Given the description of an element on the screen output the (x, y) to click on. 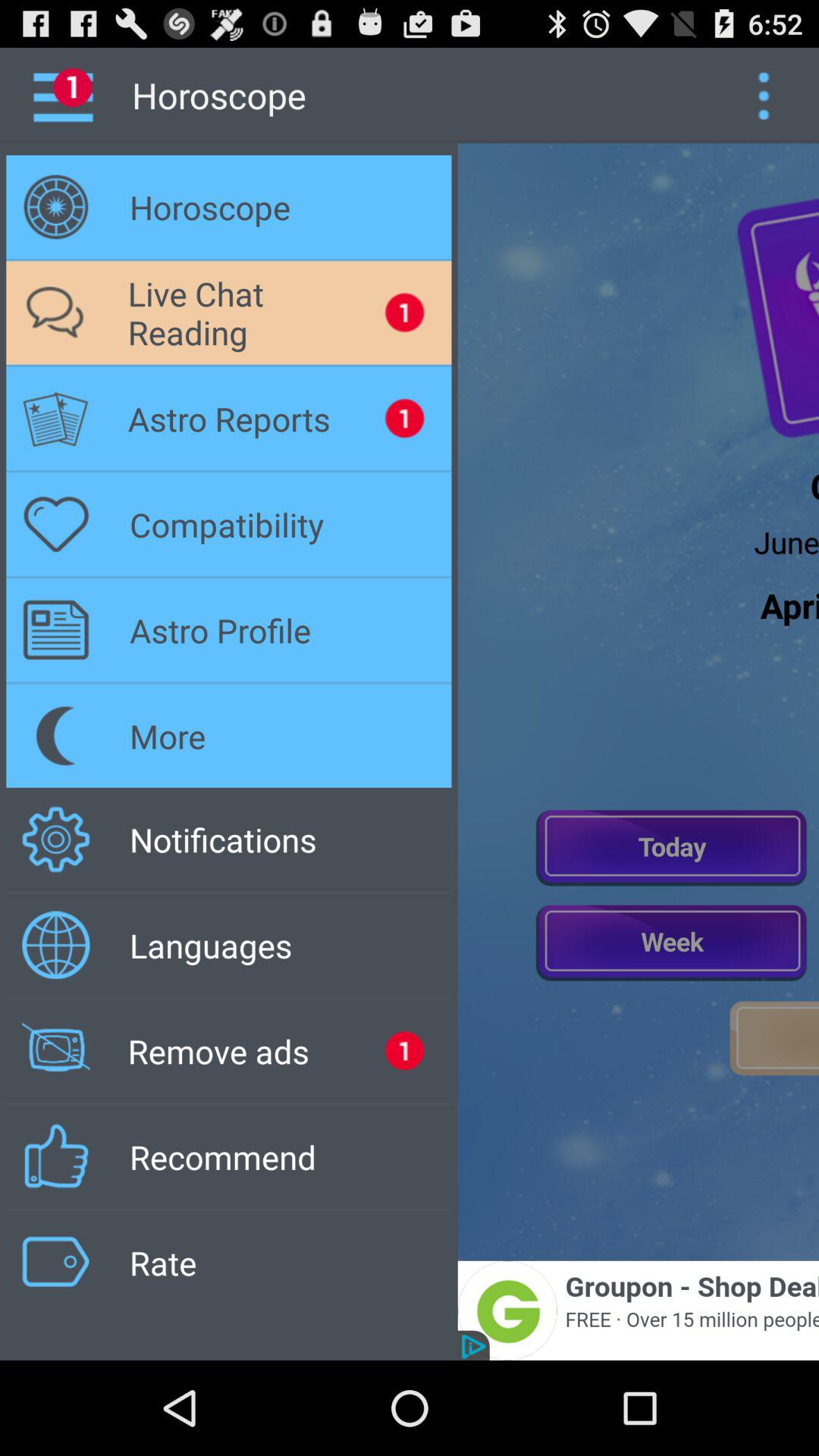
open options (763, 95)
